Given the description of an element on the screen output the (x, y) to click on. 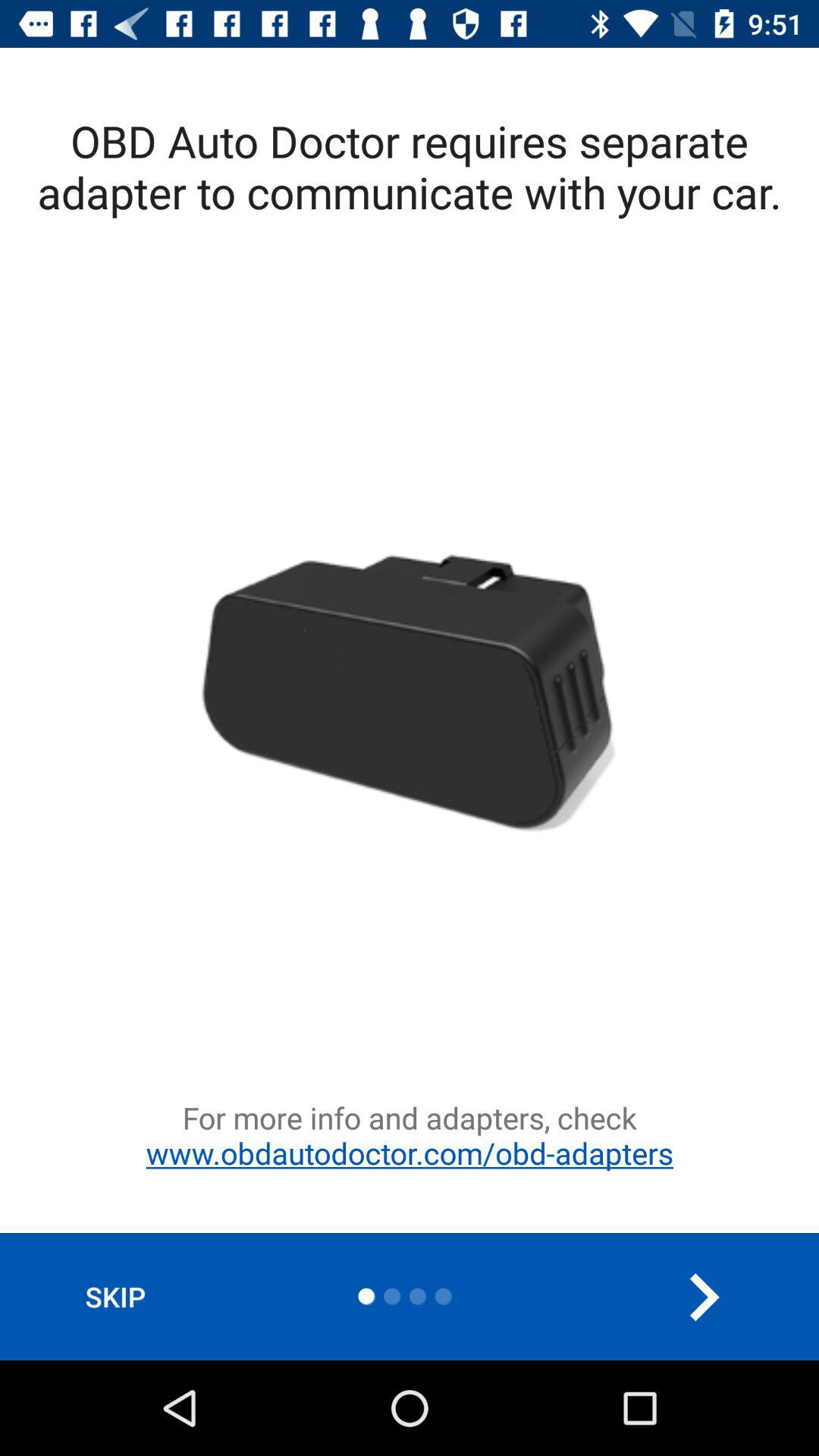
click item below the for more info item (703, 1296)
